Given the description of an element on the screen output the (x, y) to click on. 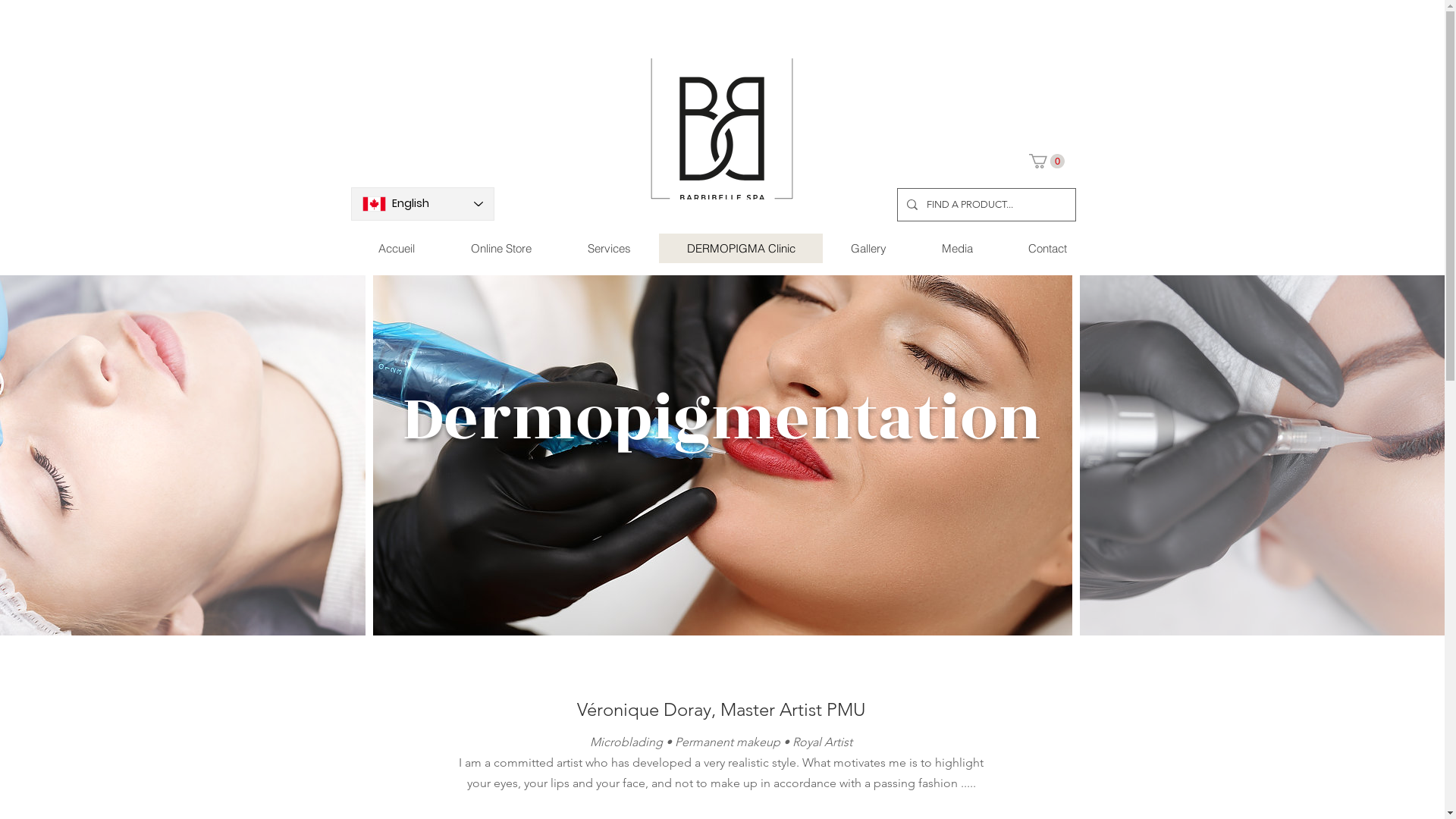
0 Element type: text (1045, 160)
Media Element type: text (956, 248)
Contact Element type: text (1046, 248)
Accueil Element type: text (396, 248)
Services Element type: text (608, 248)
DERMOPIGMA Clinic Element type: text (740, 248)
Gallery Element type: text (867, 248)
Online Store Element type: text (500, 248)
